Given the description of an element on the screen output the (x, y) to click on. 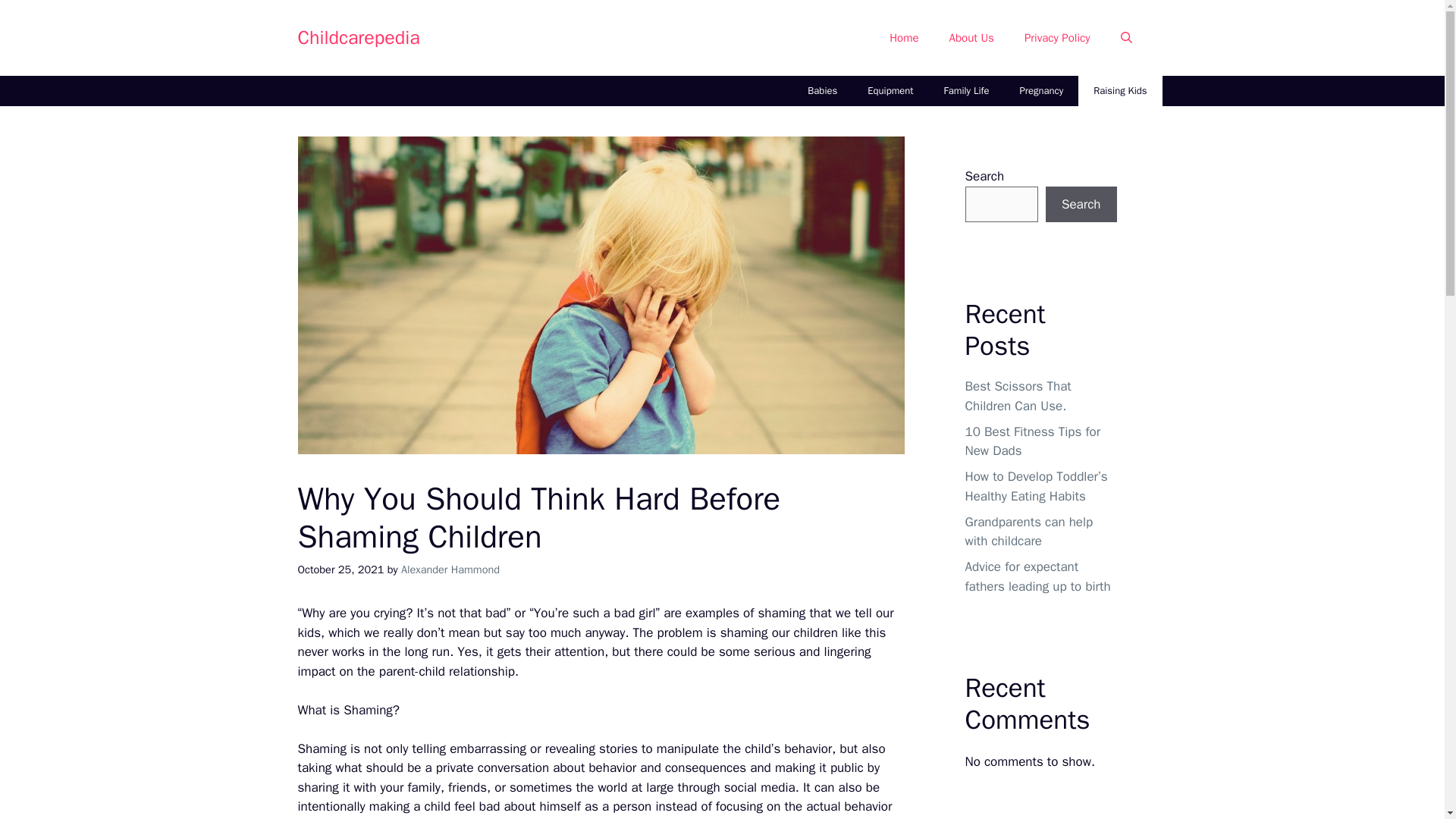
Privacy Policy (1057, 37)
Family Life (966, 91)
Babies (821, 91)
View all posts by Alexander Hammond (450, 569)
Alexander Hammond (450, 569)
10 Best Fitness Tips for New Dads (1031, 440)
Best Scissors That Children Can Use. (1016, 396)
Advice for expectant fathers leading up to birth (1036, 576)
Raising Kids (1119, 91)
Home (904, 37)
